Given the description of an element on the screen output the (x, y) to click on. 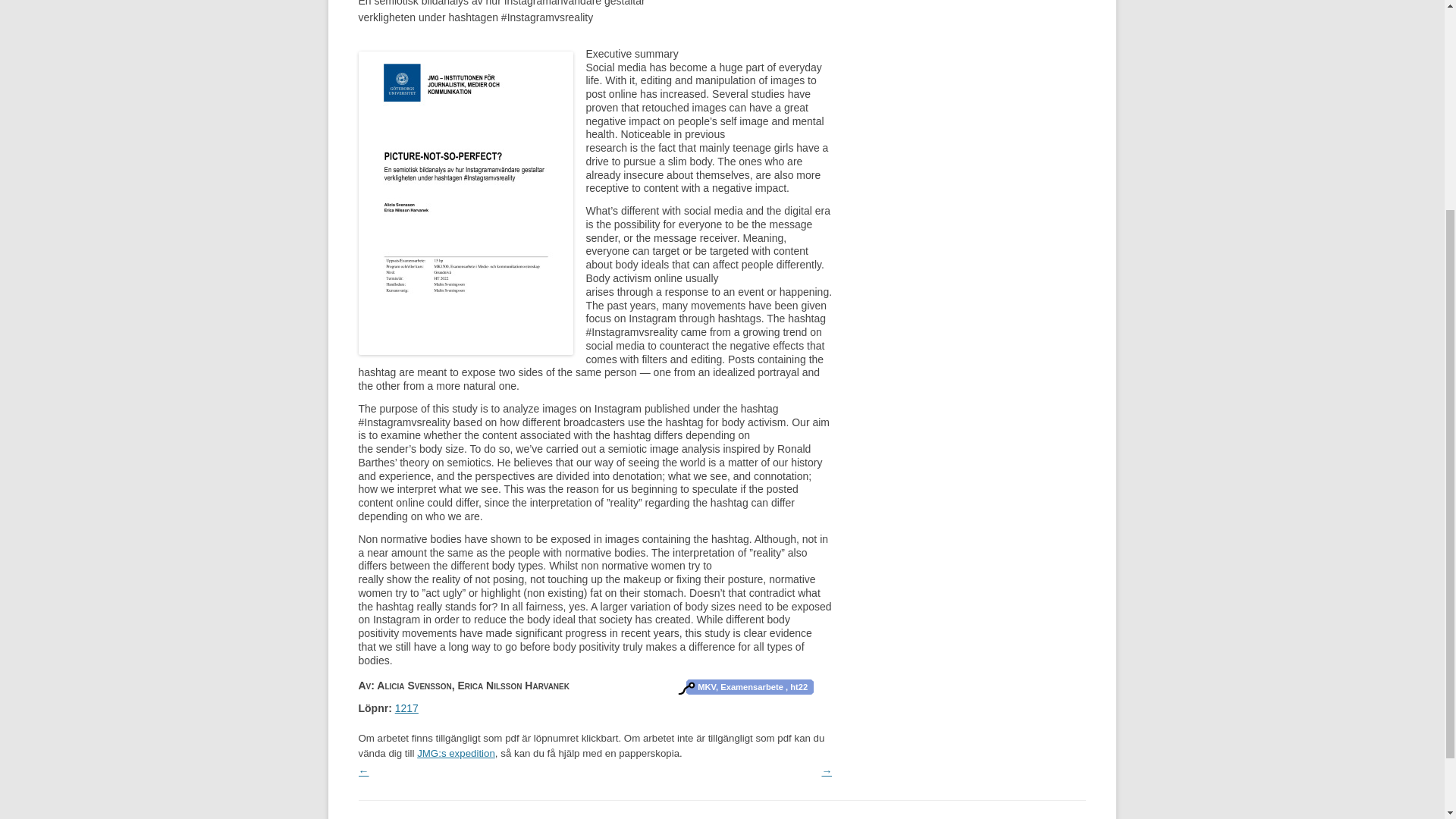
1217 (406, 707)
JMG:s expedition (455, 753)
1217 (406, 707)
1217 (465, 350)
